Given the description of an element on the screen output the (x, y) to click on. 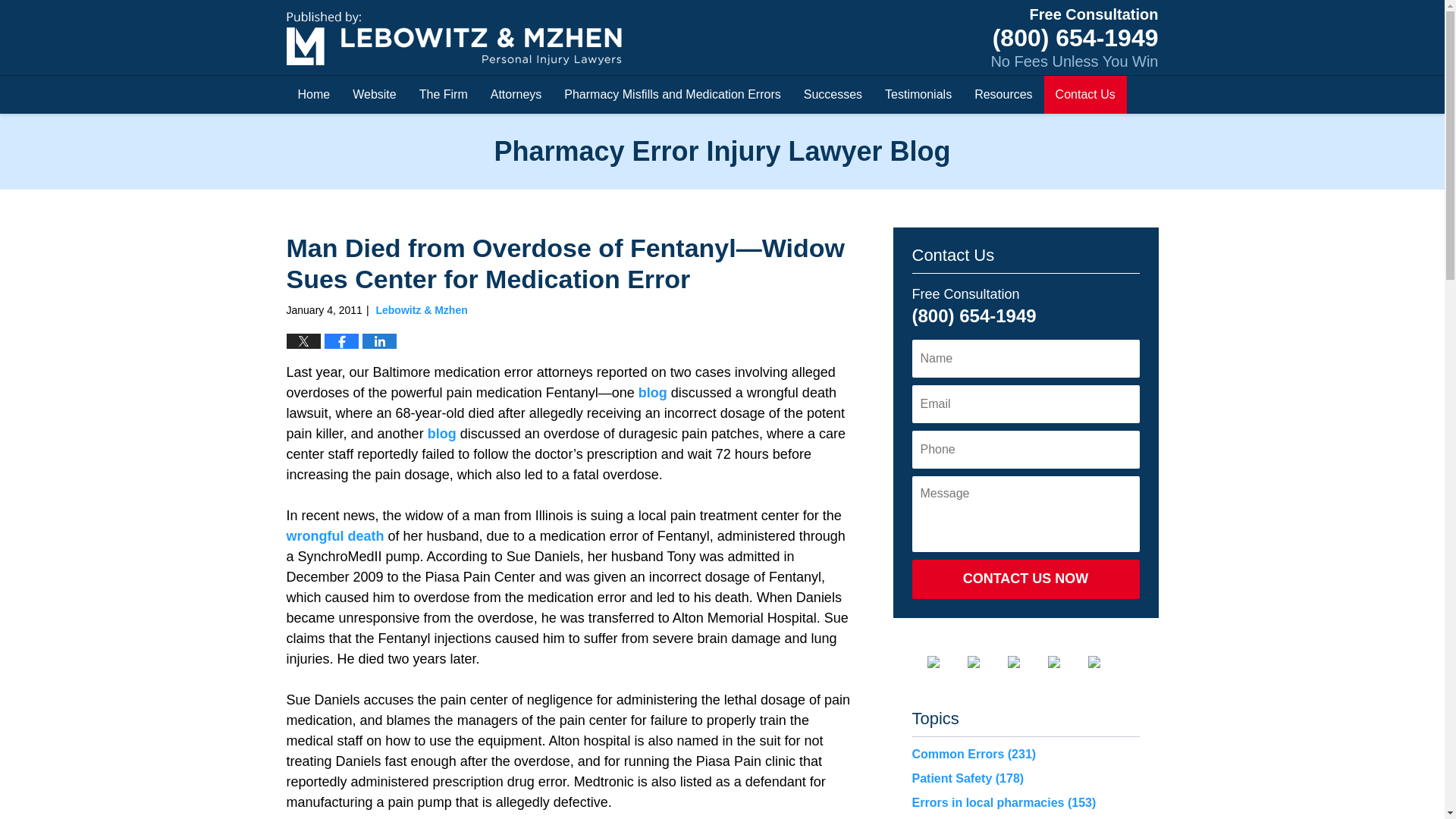
Successes (832, 94)
LinkedIn (1025, 662)
The Firm (443, 94)
Justia (1066, 662)
Website (373, 94)
Twitter (986, 662)
Resources (1002, 94)
blog (442, 433)
Attorneys (516, 94)
wrongful death (335, 535)
